Given the description of an element on the screen output the (x, y) to click on. 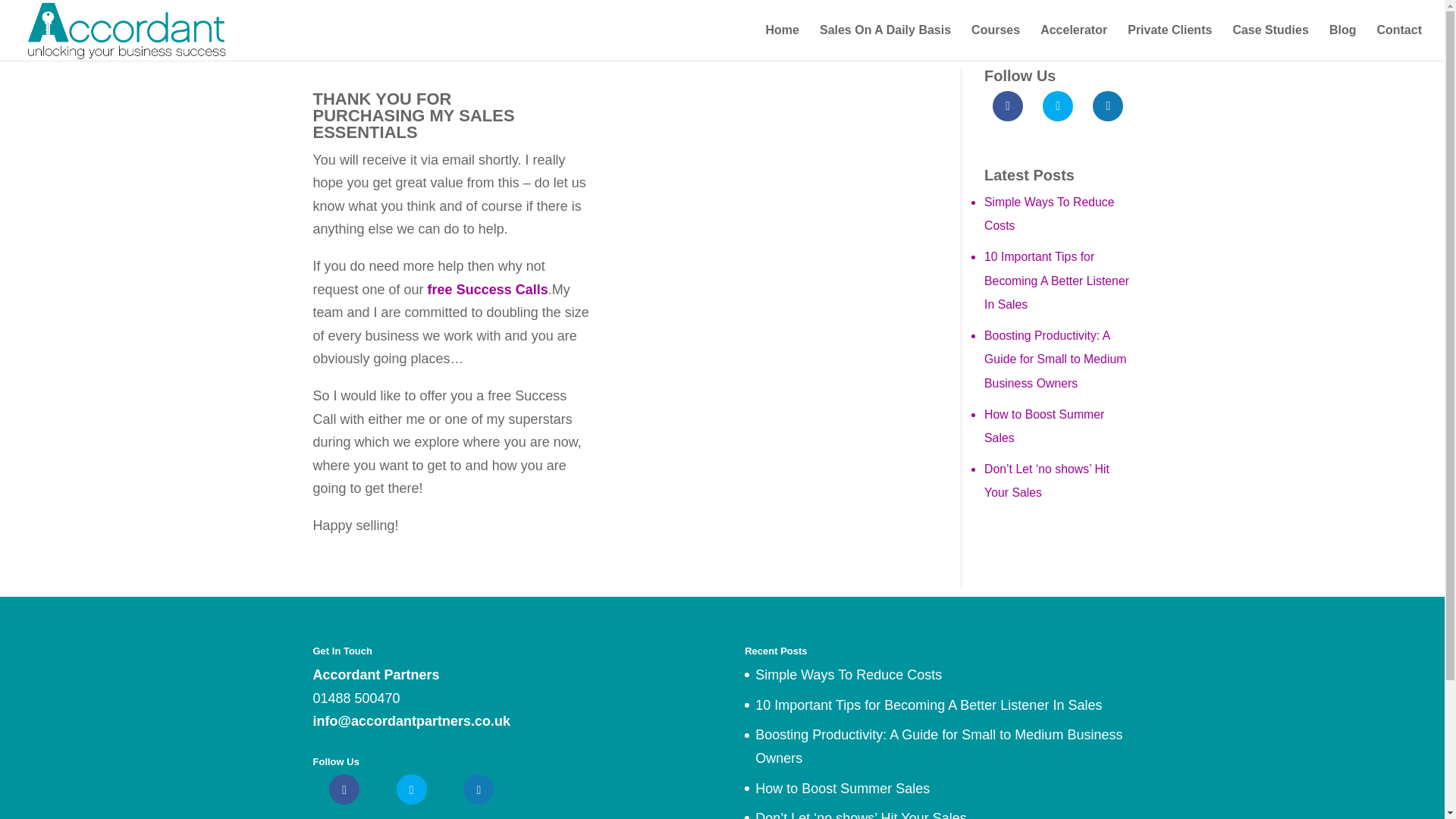
How to Boost Summer Sales (1043, 426)
10 Important Tips for Becoming A Better Listener In Sales (1056, 280)
Private Clients (1168, 42)
Case Studies (1269, 42)
10 Important Tips for Becoming A Better Listener In Sales (928, 704)
Simple Ways To Reduce Costs (1049, 213)
Accelerator (1073, 42)
Home (781, 42)
Courses (995, 42)
Contact (1398, 42)
